Given the description of an element on the screen output the (x, y) to click on. 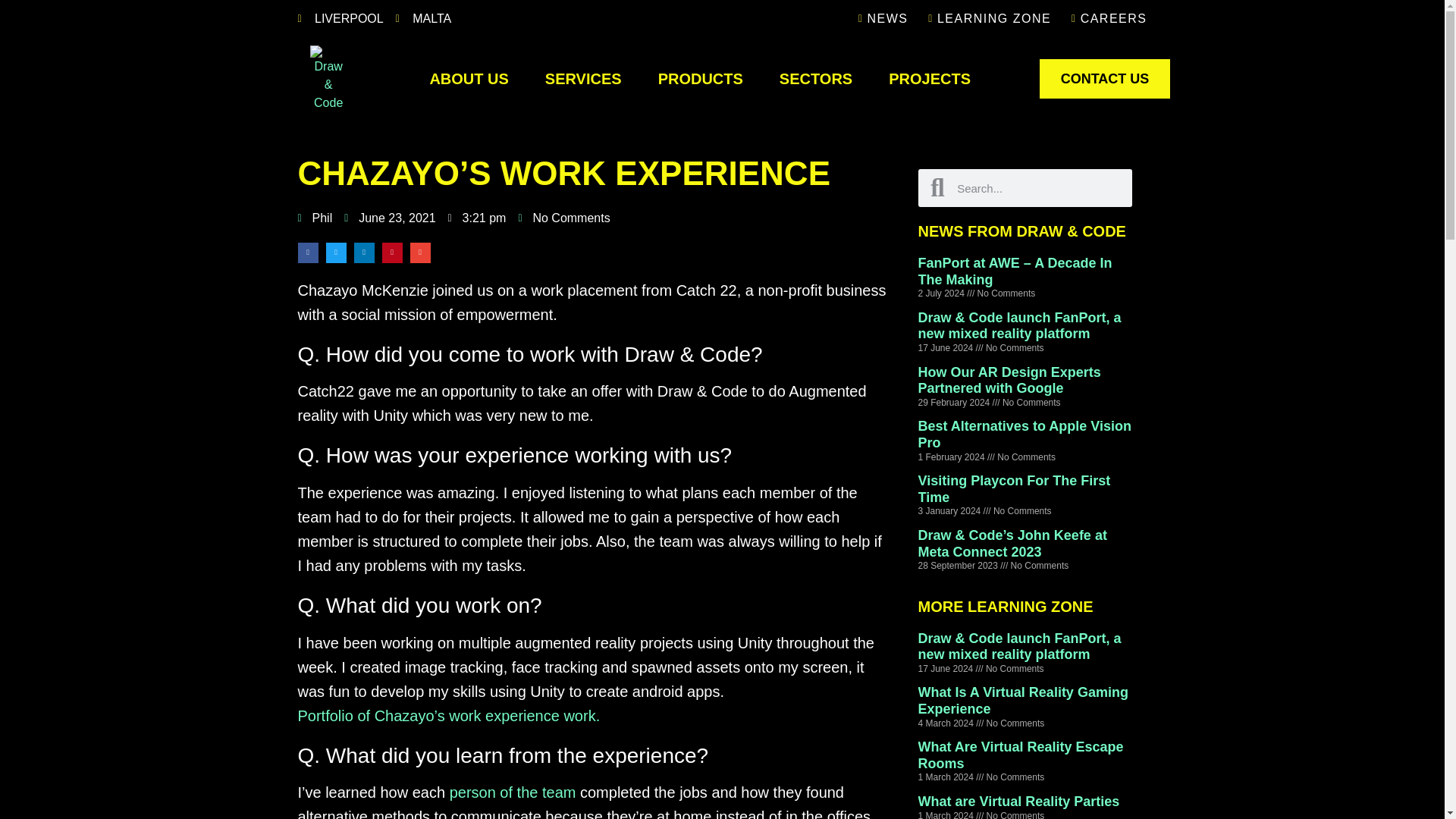
PRODUCTS (700, 78)
LEARNING ZONE (985, 18)
SERVICES (583, 78)
person of the team (512, 791)
No Comments (564, 218)
NEWS (879, 18)
June 23, 2021 (389, 218)
ABOUT US (467, 78)
CAREERS (1104, 18)
PROJECTS (929, 78)
Phil (314, 218)
CONTACT US (1104, 78)
SECTORS (815, 78)
